Given the description of an element on the screen output the (x, y) to click on. 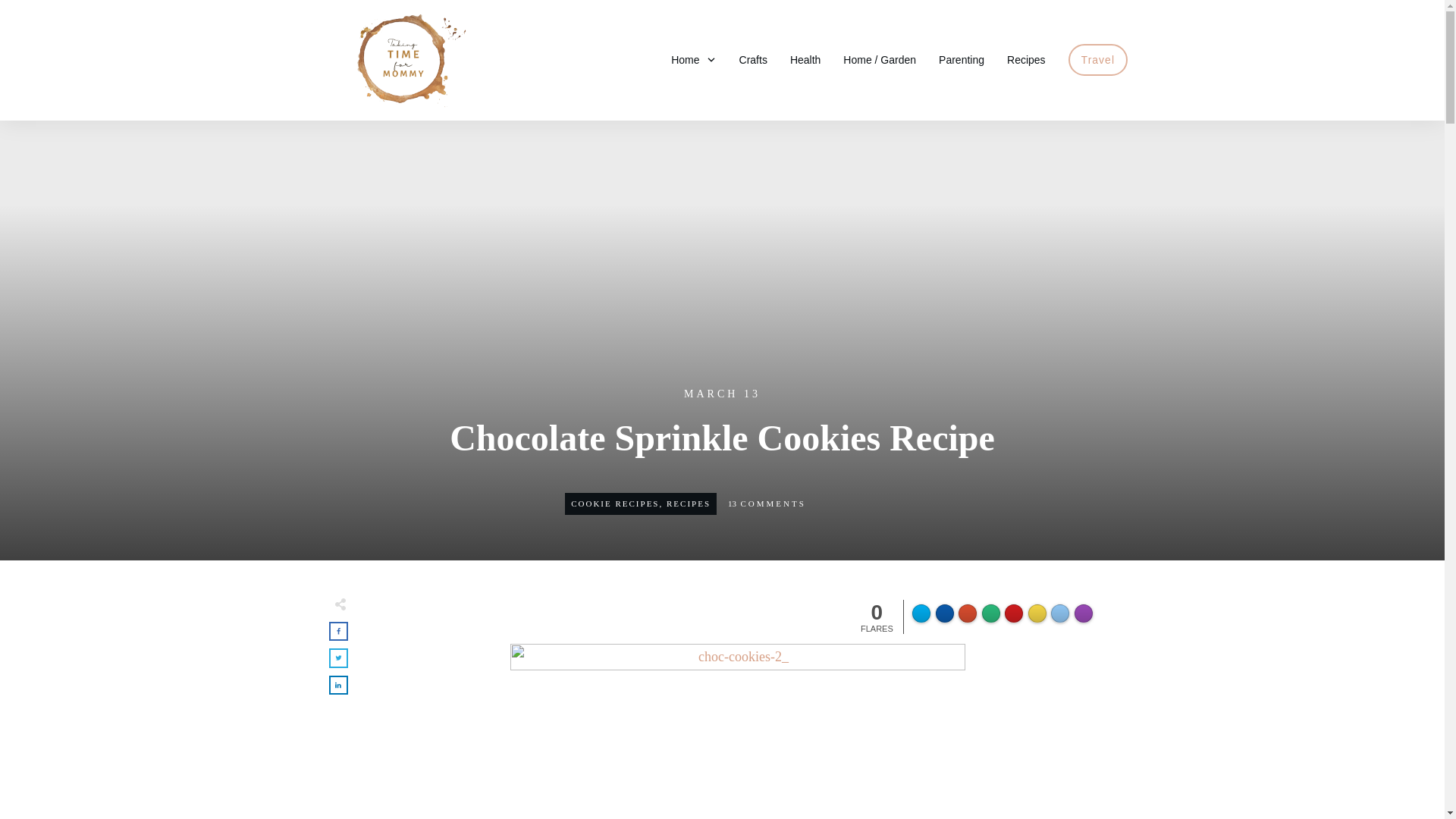
Cookie Recipes (614, 502)
Parenting (961, 59)
COOKIE RECIPES (614, 502)
Crafts (753, 59)
Travel (1098, 59)
RECIPES (688, 502)
Recipes (688, 502)
Health (805, 59)
Recipes (1026, 59)
Home (693, 59)
